Given the description of an element on the screen output the (x, y) to click on. 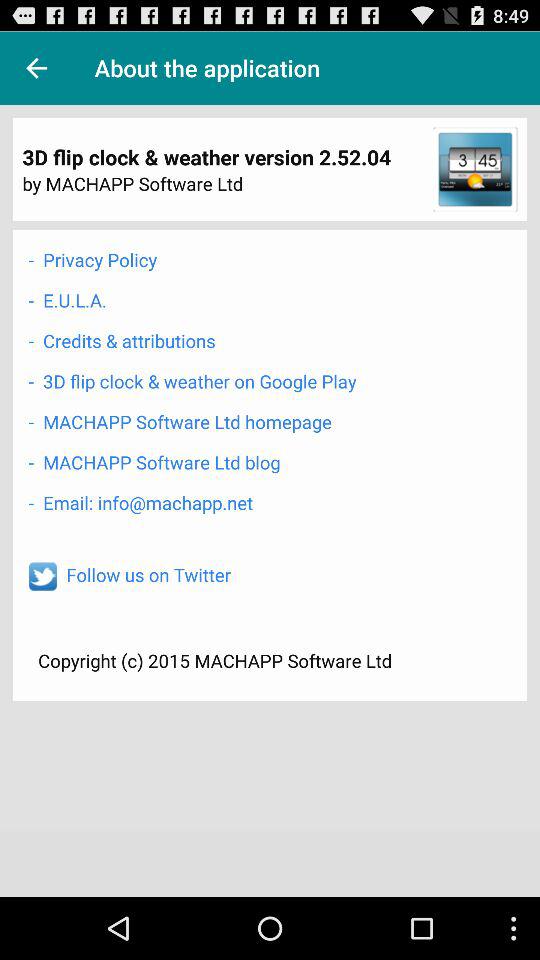
select the item to the right of by machapp software icon (475, 169)
